Given the description of an element on the screen output the (x, y) to click on. 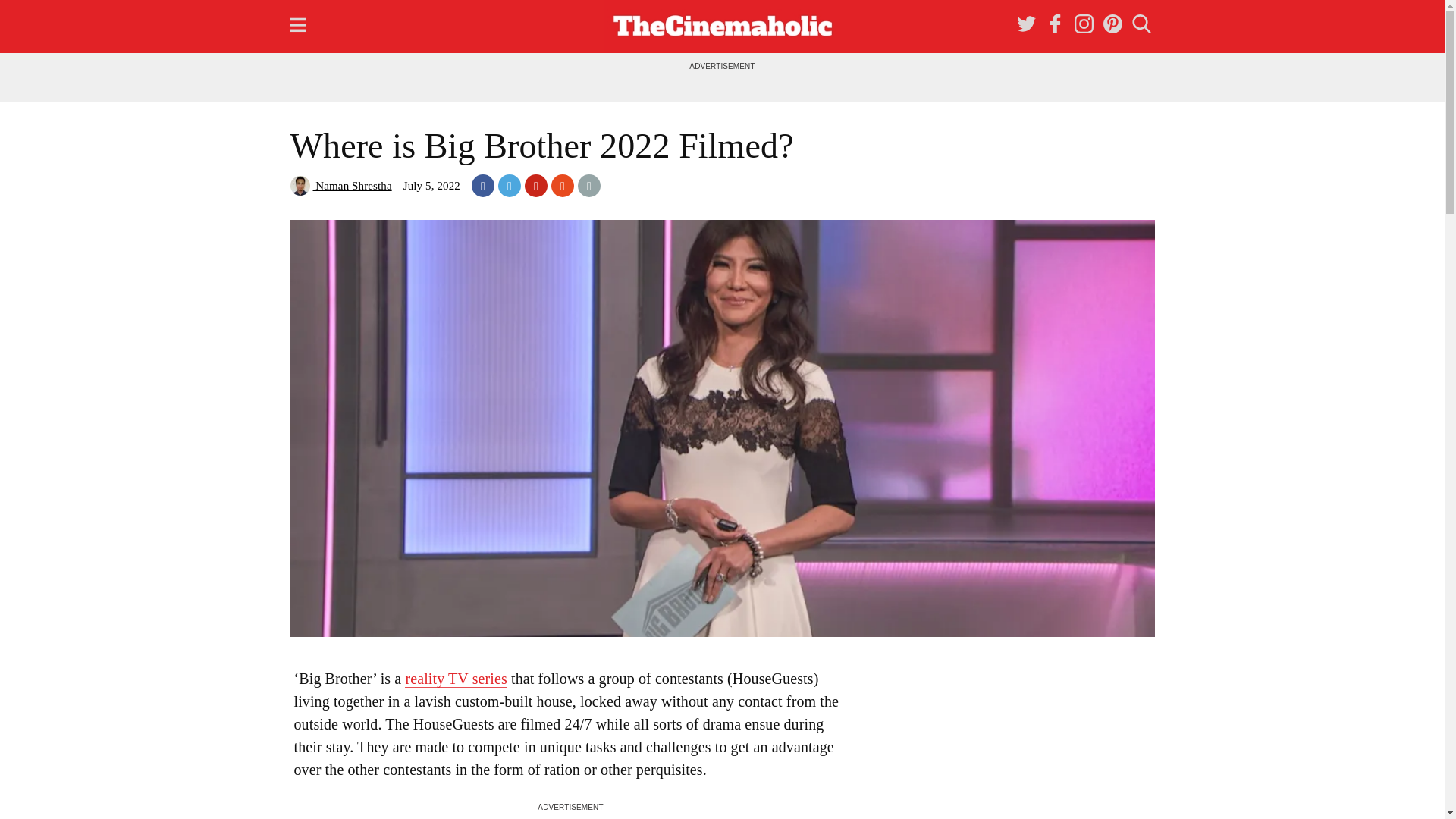
reality TV series (455, 678)
Naman Shrestha (340, 185)
